Given the description of an element on the screen output the (x, y) to click on. 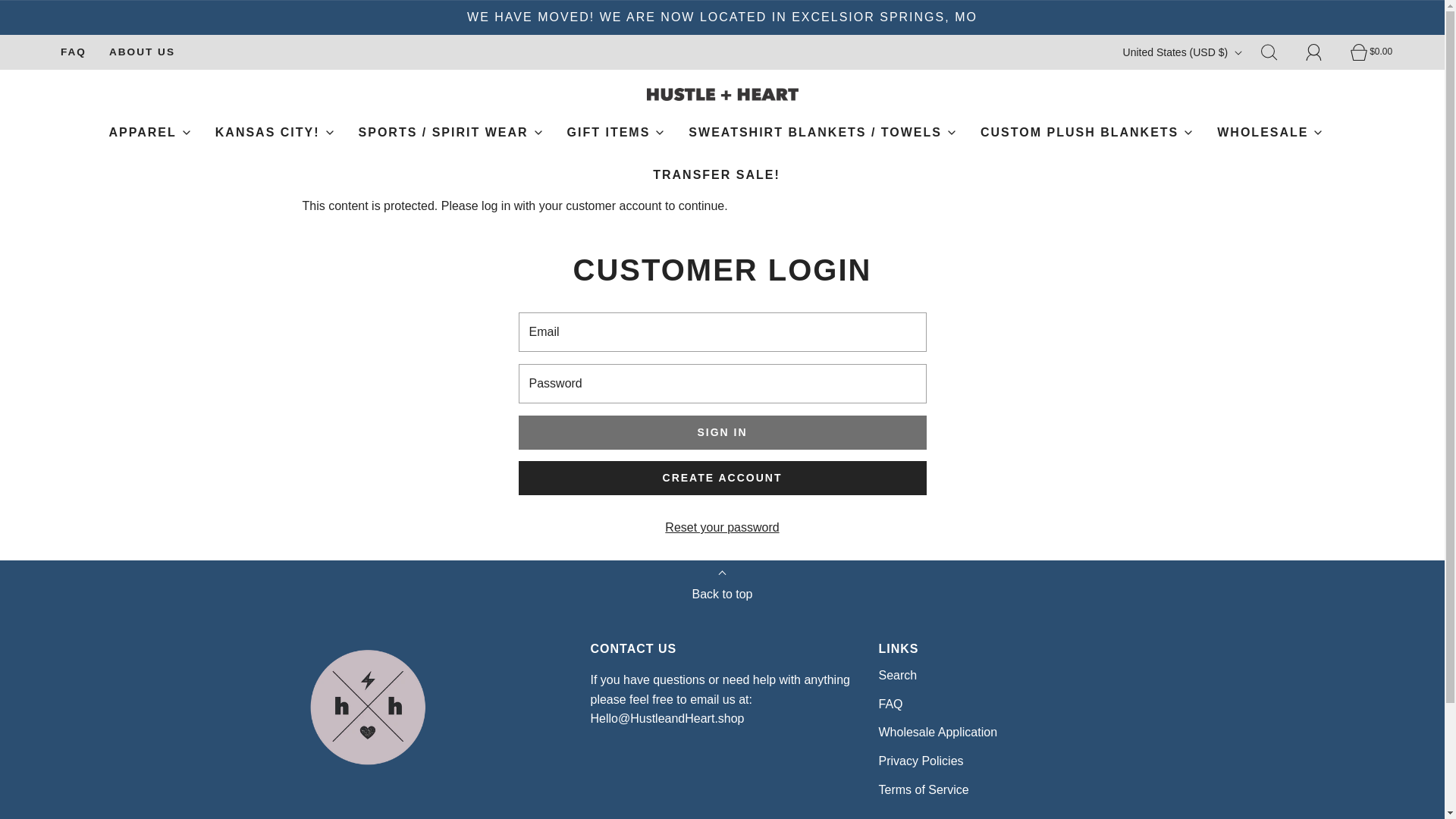
Sign In (722, 432)
Cart (1367, 52)
Log in (1322, 52)
Search (1277, 52)
